Given the description of an element on the screen output the (x, y) to click on. 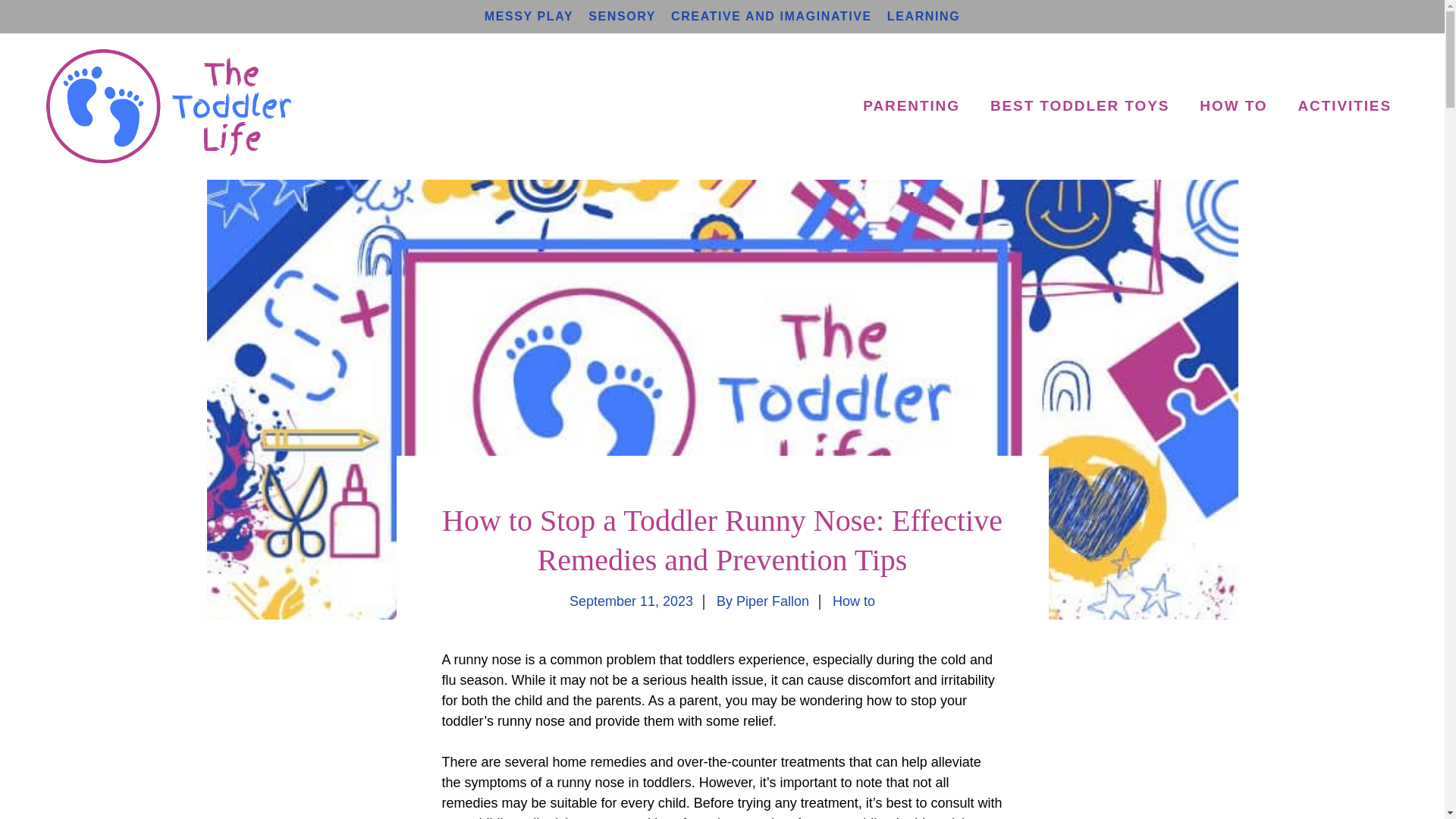
BEST TODDLER TOYS (1080, 105)
MESSY PLAY (528, 15)
How to (853, 601)
SENSORY (622, 15)
CREATIVE AND IMAGINATIVE (771, 15)
LEARNING (922, 15)
ACTIVITIES (1344, 105)
HOW TO (1233, 105)
Piper Fallon (772, 601)
PARENTING (911, 105)
